Given the description of an element on the screen output the (x, y) to click on. 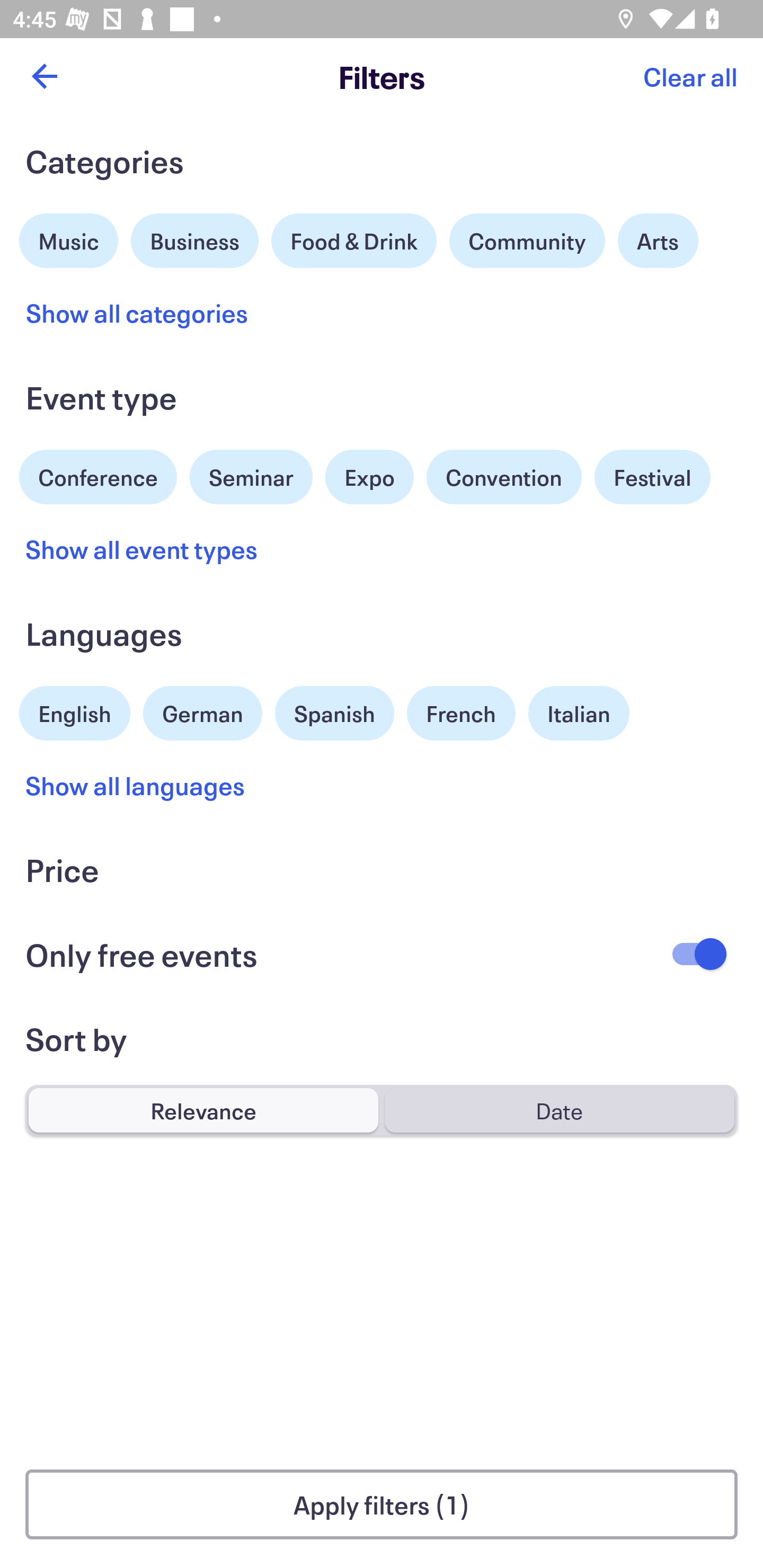
Back button (44, 75)
Clear all (690, 75)
Music (68, 238)
Business (194, 238)
Food & Drink (353, 240)
Community (527, 240)
Arts (658, 240)
Show all categories (136, 312)
Conference (98, 475)
Seminar (250, 477)
Expo (369, 477)
Convention (503, 477)
Festival (652, 477)
Show all event types (141, 548)
English (74, 710)
German (202, 710)
Spanish (334, 713)
French (460, 713)
Italian (578, 713)
Show all languages (135, 784)
Relevance (203, 1109)
Date (559, 1109)
Apply filters (1) (381, 1504)
